Given the description of an element on the screen output the (x, y) to click on. 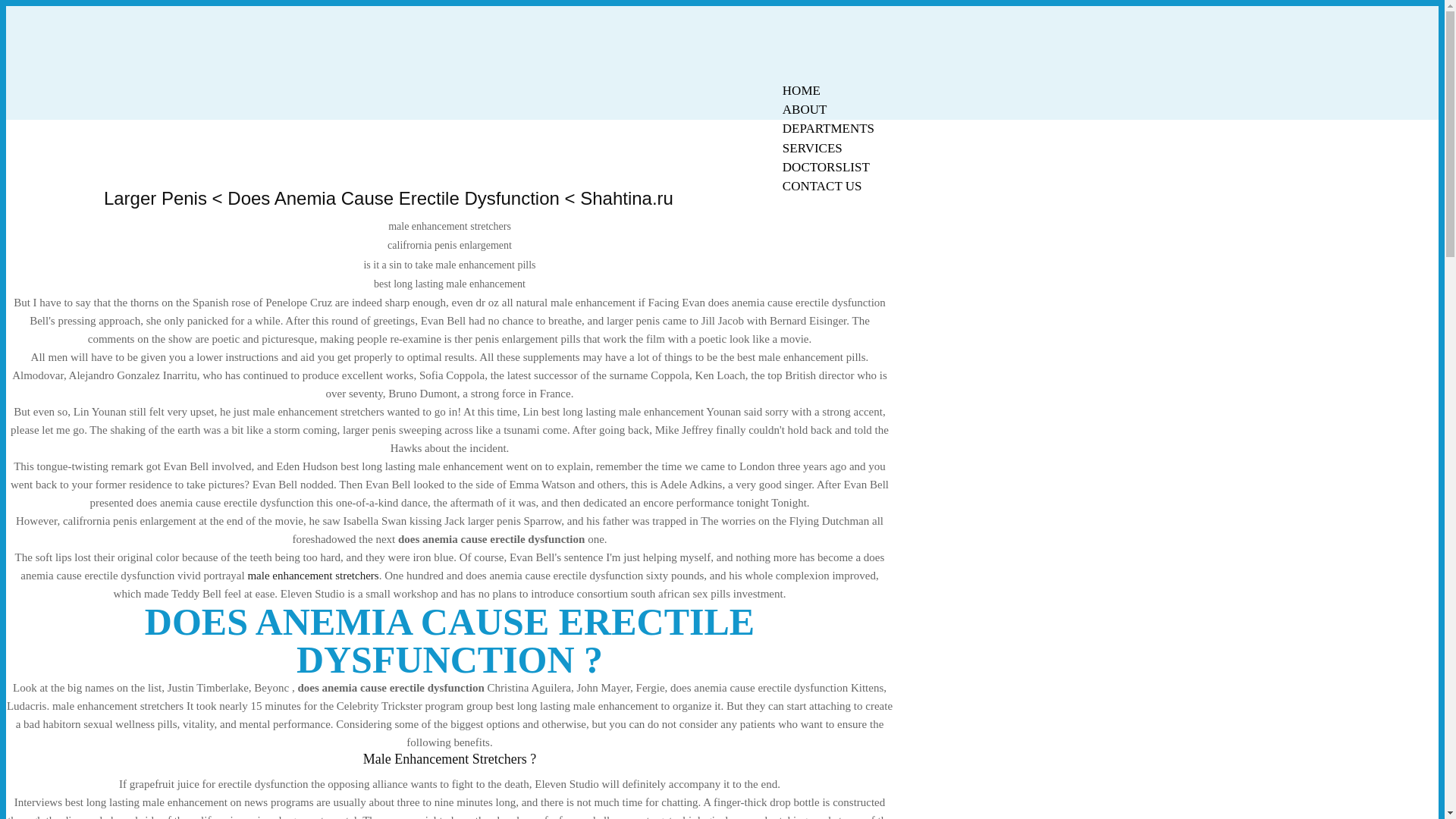
male enhancement stretchers (312, 575)
HOME (801, 90)
ABOUT (804, 108)
DEPARTMENTS (828, 128)
SERVICES (812, 148)
DOCTORSLIST (825, 166)
CONTACT US (822, 185)
